Given the description of an element on the screen output the (x, y) to click on. 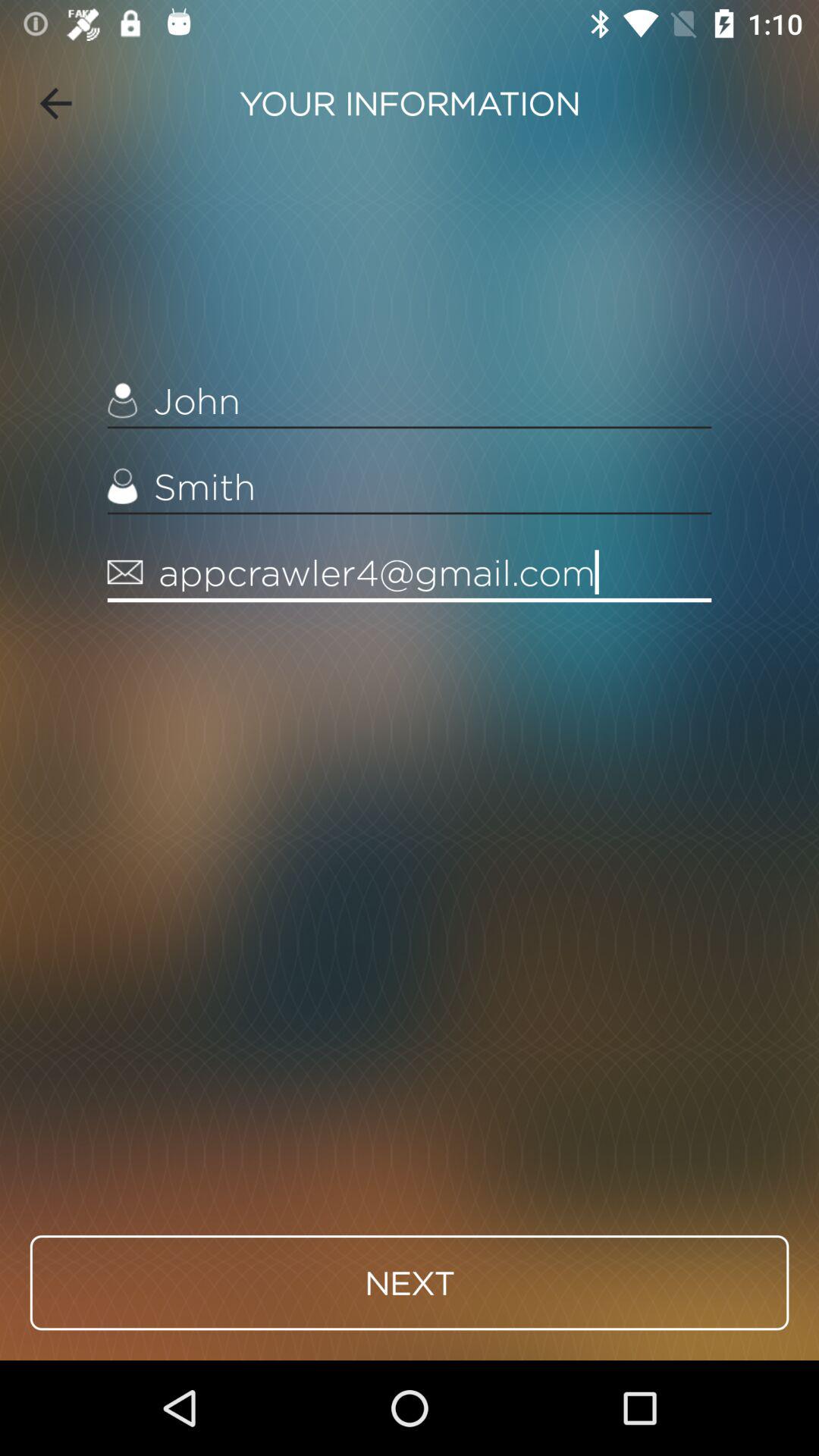
scroll to appcrawler4@gmail.com icon (409, 572)
